Given the description of an element on the screen output the (x, y) to click on. 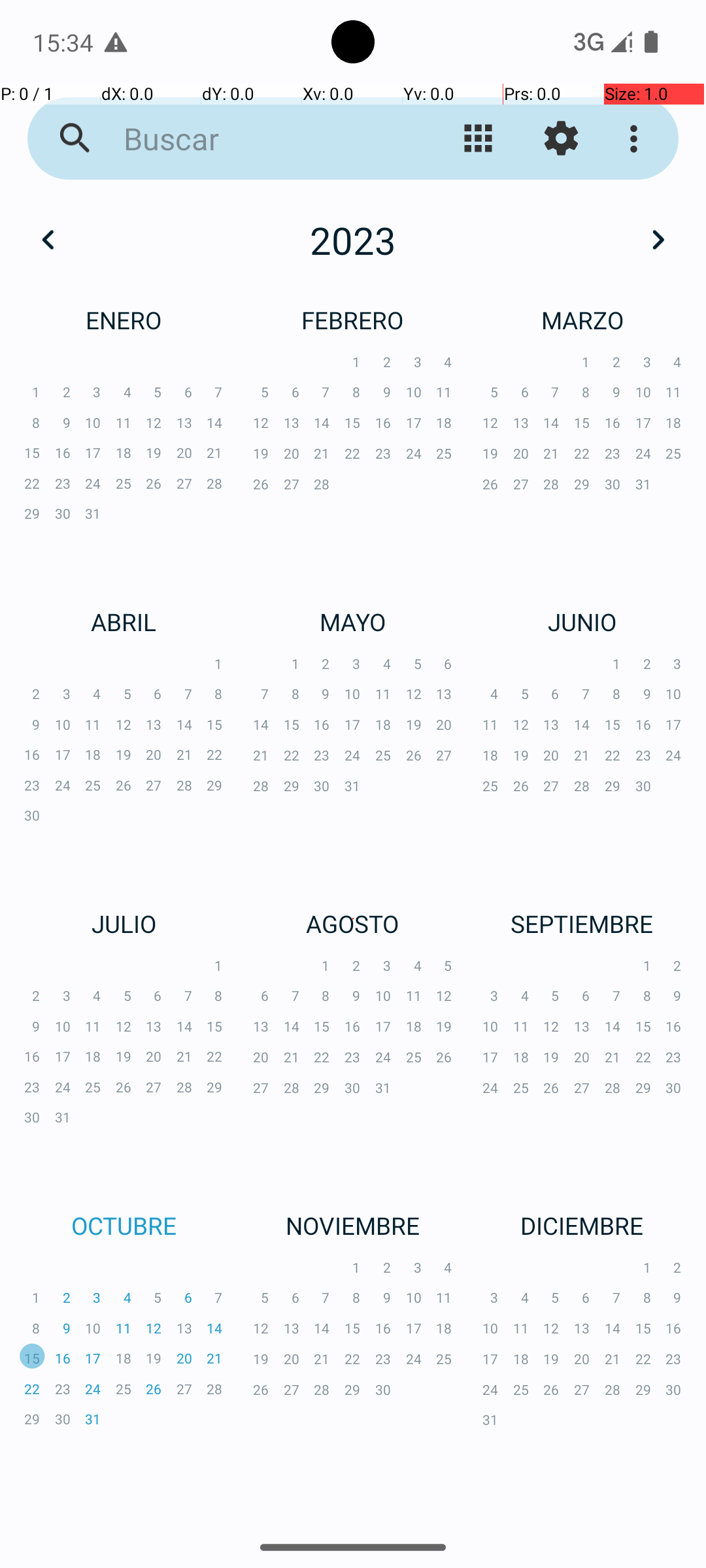
ENERO Element type: android.widget.TextView (123, 319)
FEBRERO Element type: android.widget.TextView (352, 319)
MARZO Element type: android.widget.TextView (582, 319)
ABRIL Element type: android.widget.TextView (123, 621)
MAYO Element type: android.widget.TextView (352, 621)
JUNIO Element type: android.widget.TextView (582, 621)
JULIO Element type: android.widget.TextView (123, 923)
AGOSTO Element type: android.widget.TextView (352, 923)
SEPTIEMBRE Element type: android.widget.TextView (582, 923)
OCTUBRE Element type: android.widget.TextView (123, 1224)
NOVIEMBRE Element type: android.widget.TextView (352, 1224)
DICIEMBRE Element type: android.widget.TextView (582, 1224)
